Given the description of an element on the screen output the (x, y) to click on. 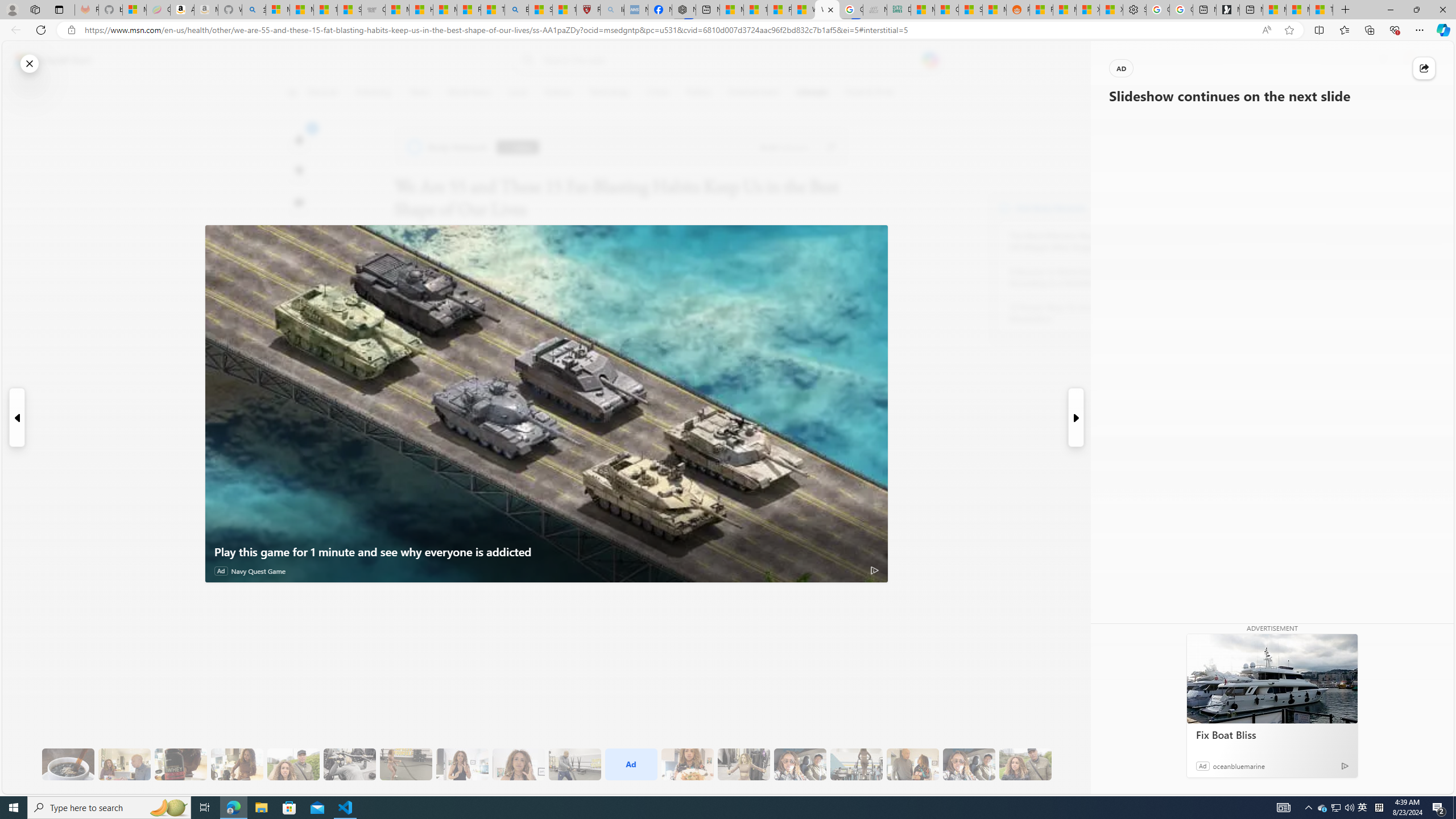
Body Network (1004, 207)
8 They Walk to the Gym (293, 764)
16 The Couple's Program Helps with Accountability (800, 764)
9 They Do Bench Exercises (349, 764)
13 Her Husband Does Group Cardio Classs (574, 764)
Visit Body Network website (1145, 207)
11 They Eat More Protein for Breakfast (462, 764)
